Given the description of an element on the screen output the (x, y) to click on. 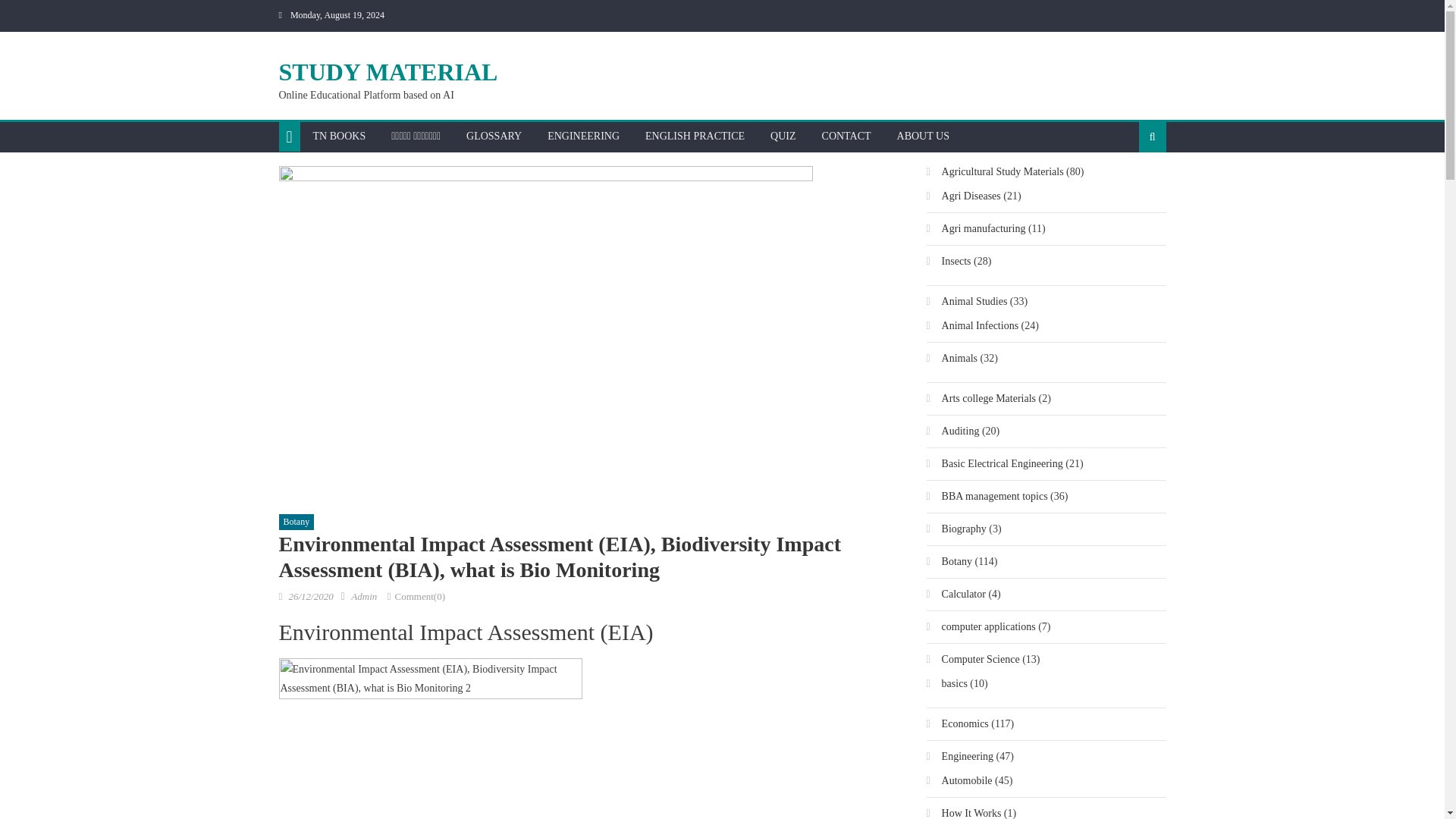
Search (1128, 185)
CONTACT (846, 136)
ABOUT US (922, 136)
ENGLISH PRACTICE (694, 136)
STUDY MATERIAL (388, 71)
TN BOOKS (339, 136)
GLOSSARY (493, 136)
Admin (363, 595)
ENGINEERING (582, 136)
Botany (296, 522)
